Given the description of an element on the screen output the (x, y) to click on. 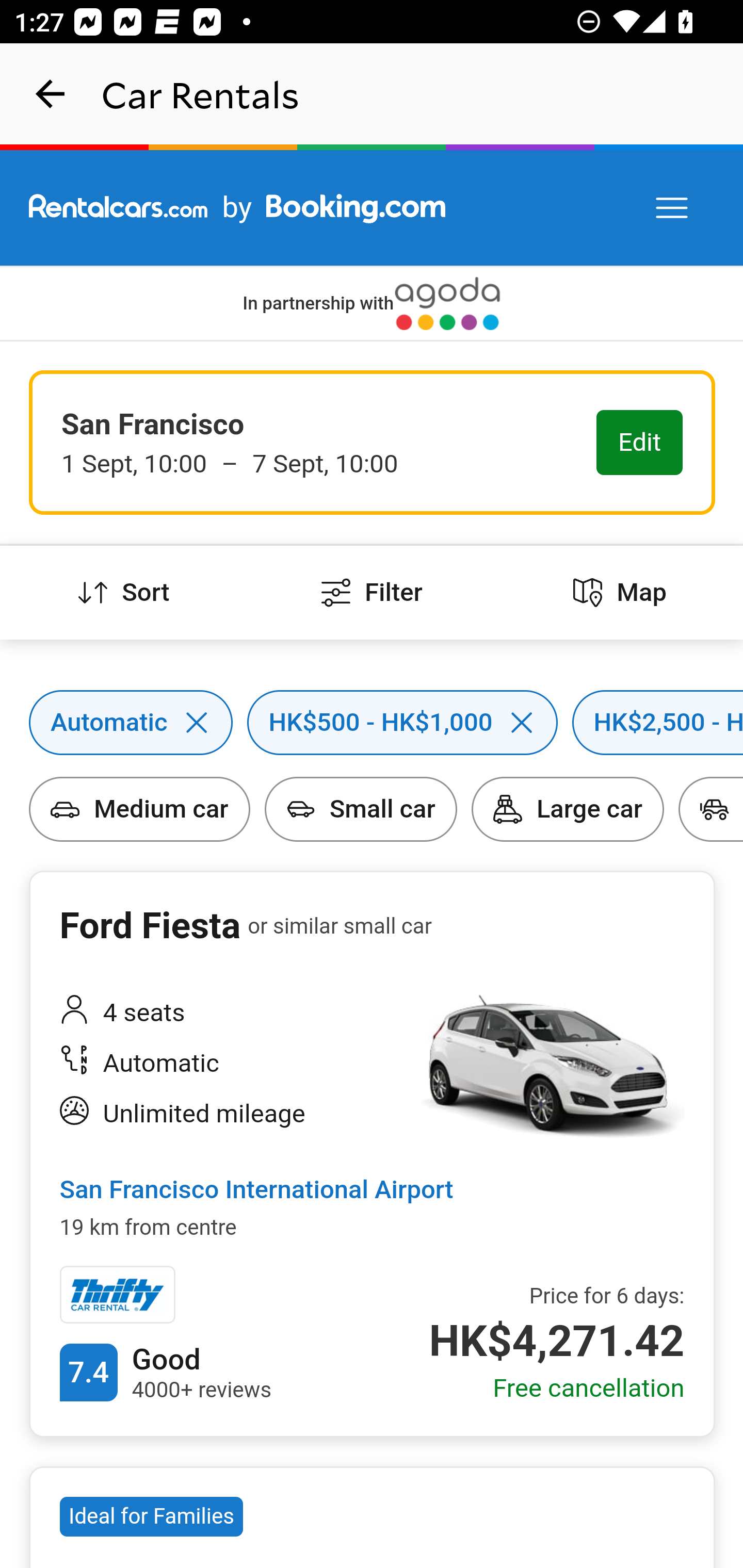
navigation_button (50, 93)
Menu (672, 208)
Edit (639, 443)
Sort (124, 592)
Filter (371, 592)
Automatic (30, 689)
HK$500 - HK$1,000 (246, 689)
HK$2,500 - HK$5,000 (572, 689)
Show medium cars (30, 776)
Show small cars (265, 776)
Show large cars (471, 776)
4 seats (225, 1014)
Automatic (225, 1063)
Unlimited mileage (225, 1114)
San Francisco International Airport (255, 1190)
